Given the description of an element on the screen output the (x, y) to click on. 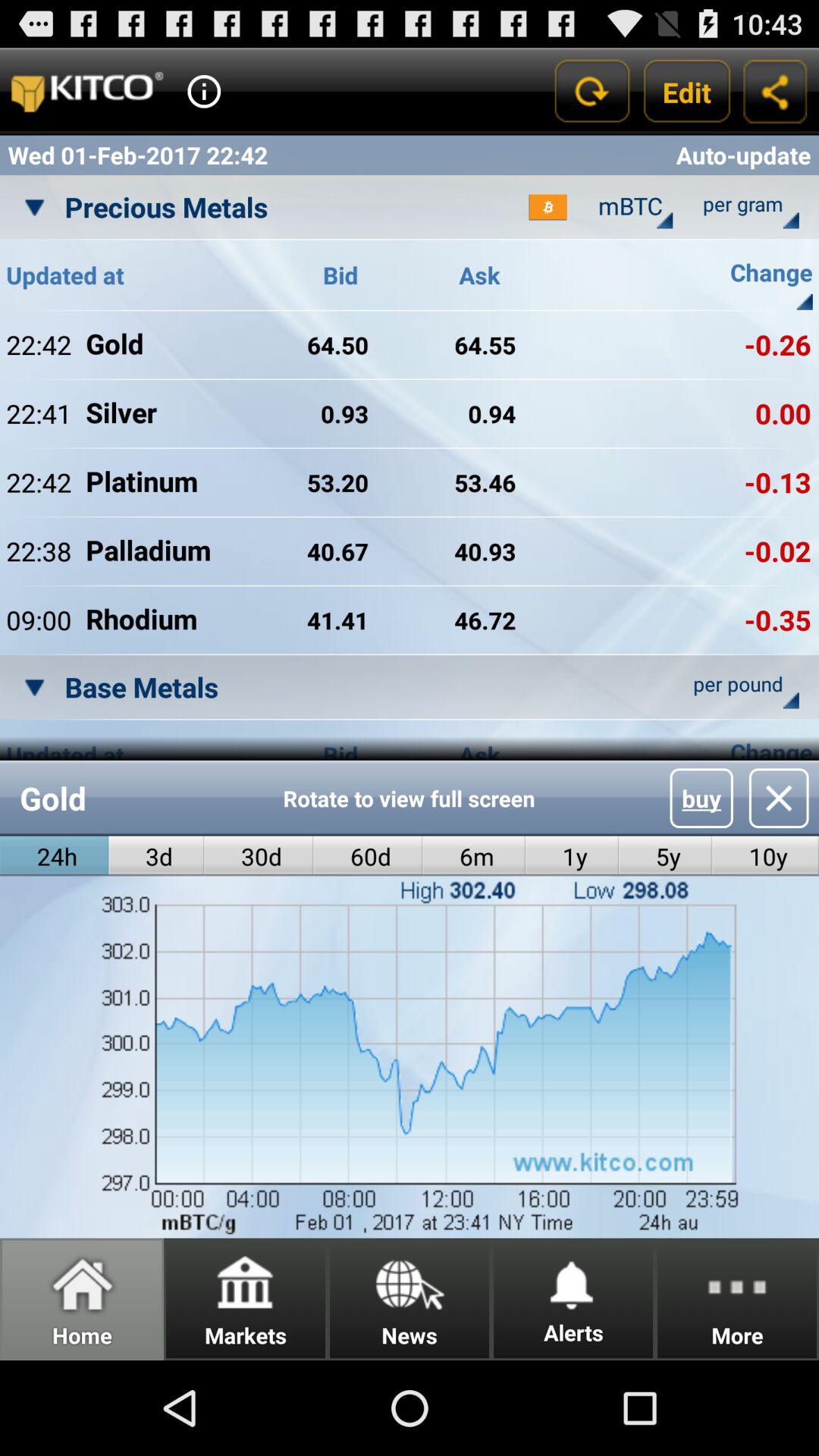
swipe to 1y icon (571, 856)
